Given the description of an element on the screen output the (x, y) to click on. 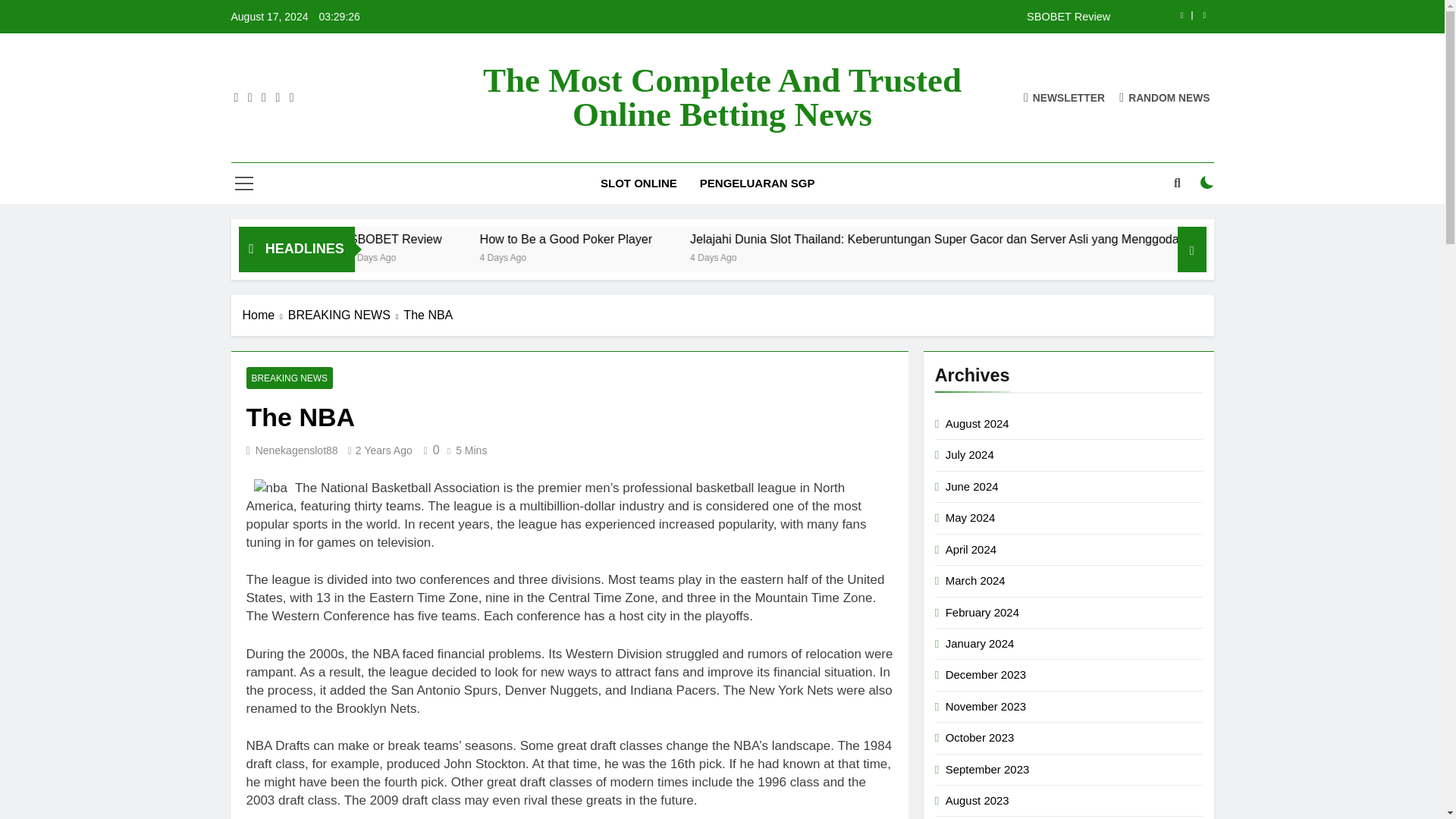
How to Win the Lottery (410, 238)
SBOBET Review (817, 16)
on (1206, 182)
NEWSLETTER (1064, 97)
How to Win the Lottery (374, 238)
SBOBET Review (817, 16)
How to Be a Good Poker Player (719, 238)
PENGELUARAN SGP (757, 182)
2 Days Ago (526, 256)
